Given the description of an element on the screen output the (x, y) to click on. 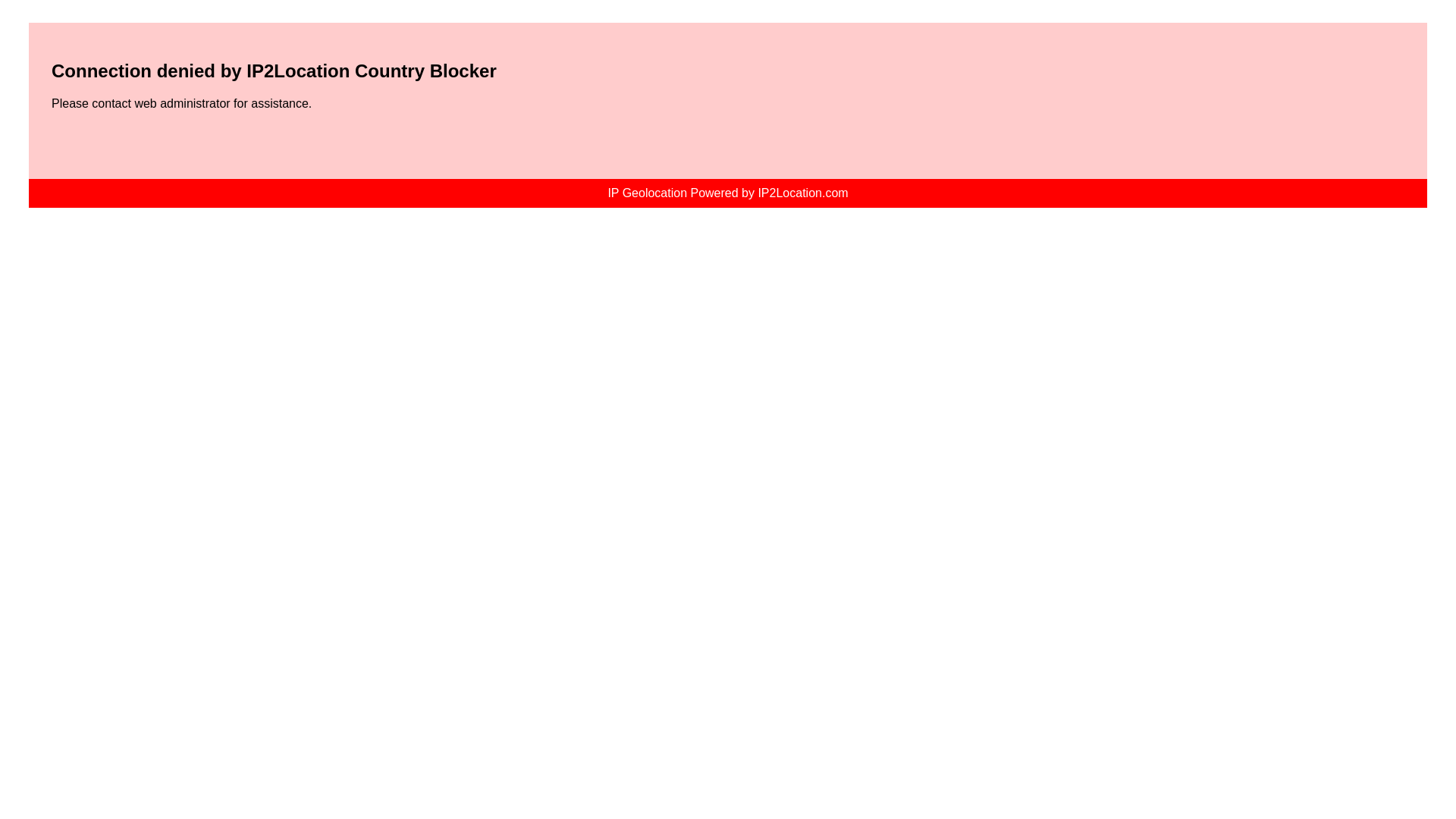
IP Geolocation Powered by IP2Location.com (727, 192)
